Given the description of an element on the screen output the (x, y) to click on. 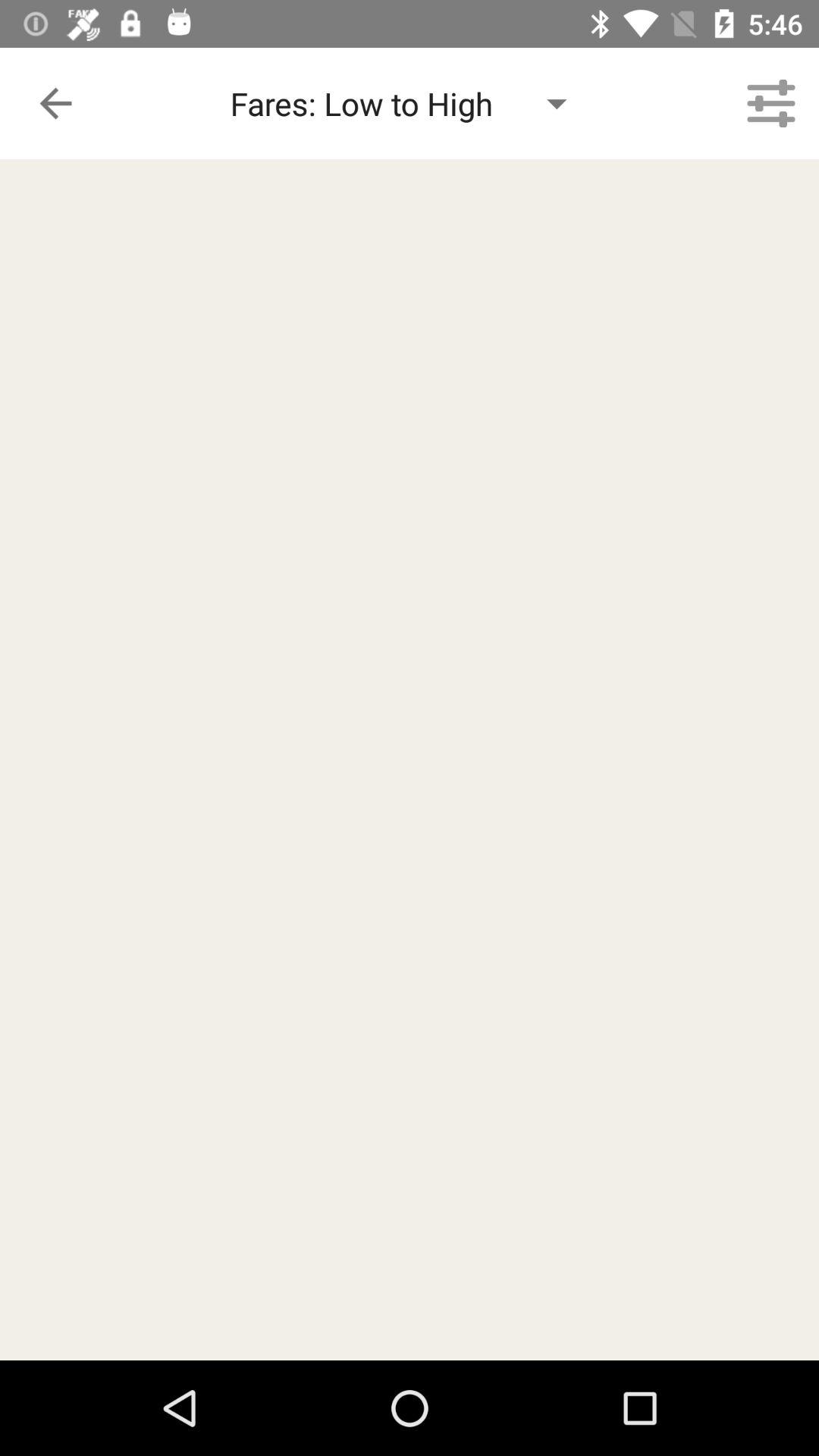
select item to the left of the fares low to icon (55, 103)
